Given the description of an element on the screen output the (x, y) to click on. 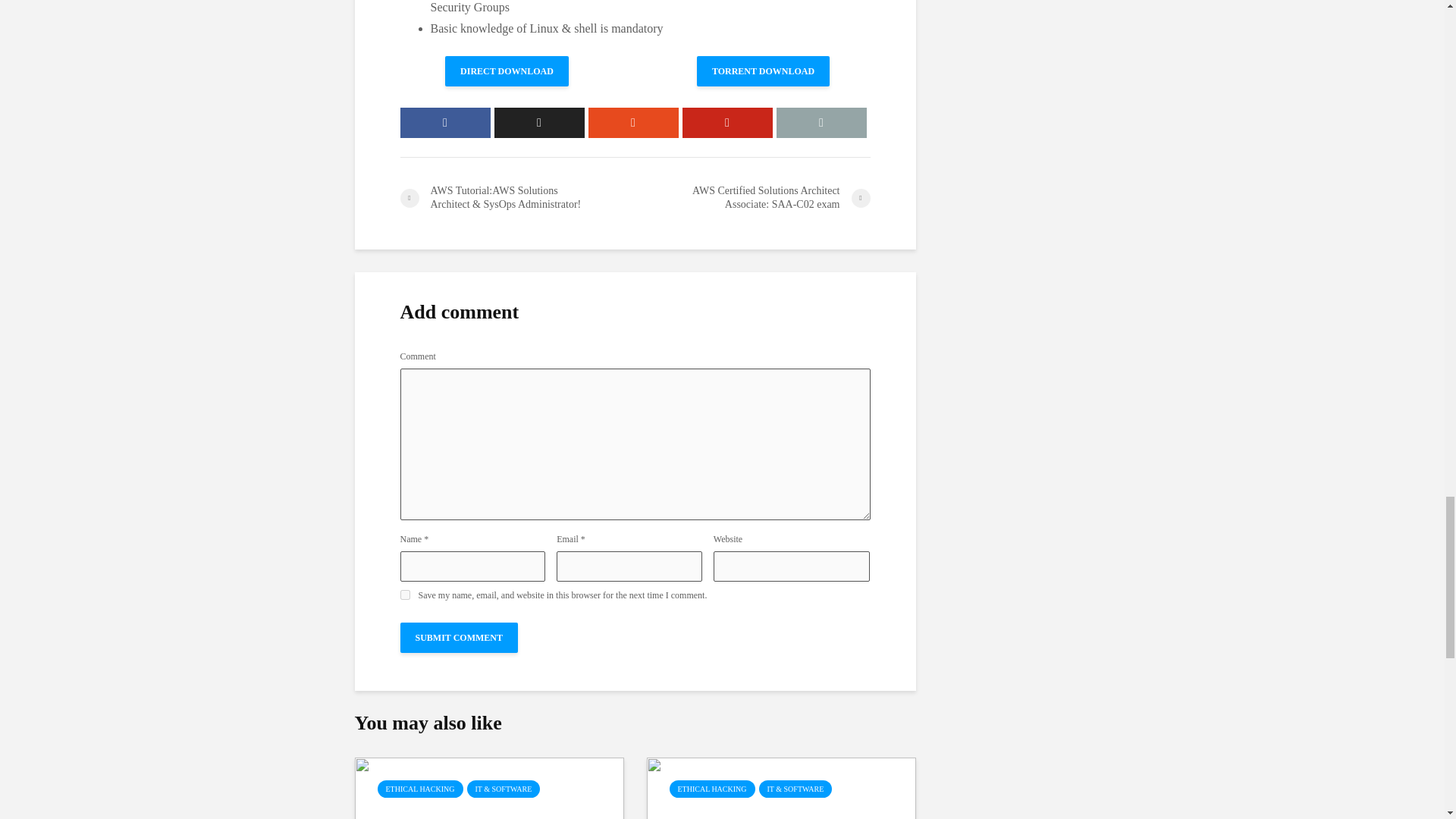
Kali Linux hacker tools, tricks and techniques for beginners (780, 812)
Ethical Hacking: How Hackers Uses DigiSpark to Hack Any PC (489, 812)
yes (405, 594)
Submit Comment (459, 637)
